Given the description of an element on the screen output the (x, y) to click on. 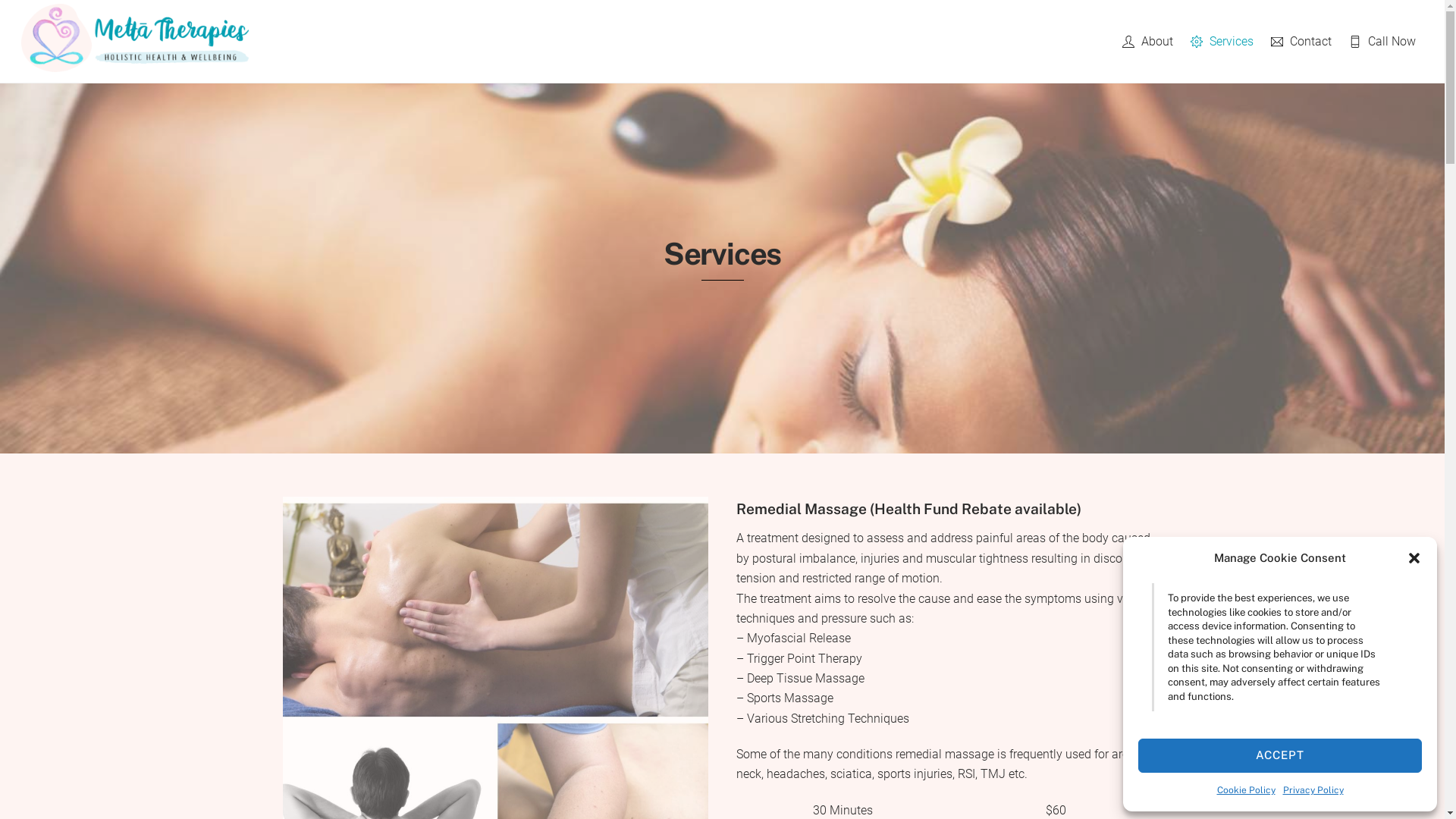
Privacy Policy Element type: text (1313, 790)
Metta Therapies Element type: hover (134, 64)
Cookie Policy Element type: text (1245, 790)
Call Now Element type: text (1382, 40)
ACCEPT Element type: text (1279, 755)
Metta Therapies Logo Horizontal Element type: hover (134, 37)
Services Element type: text (1221, 40)
About Element type: text (1146, 40)
Contact Element type: text (1301, 40)
